Given the description of an element on the screen output the (x, y) to click on. 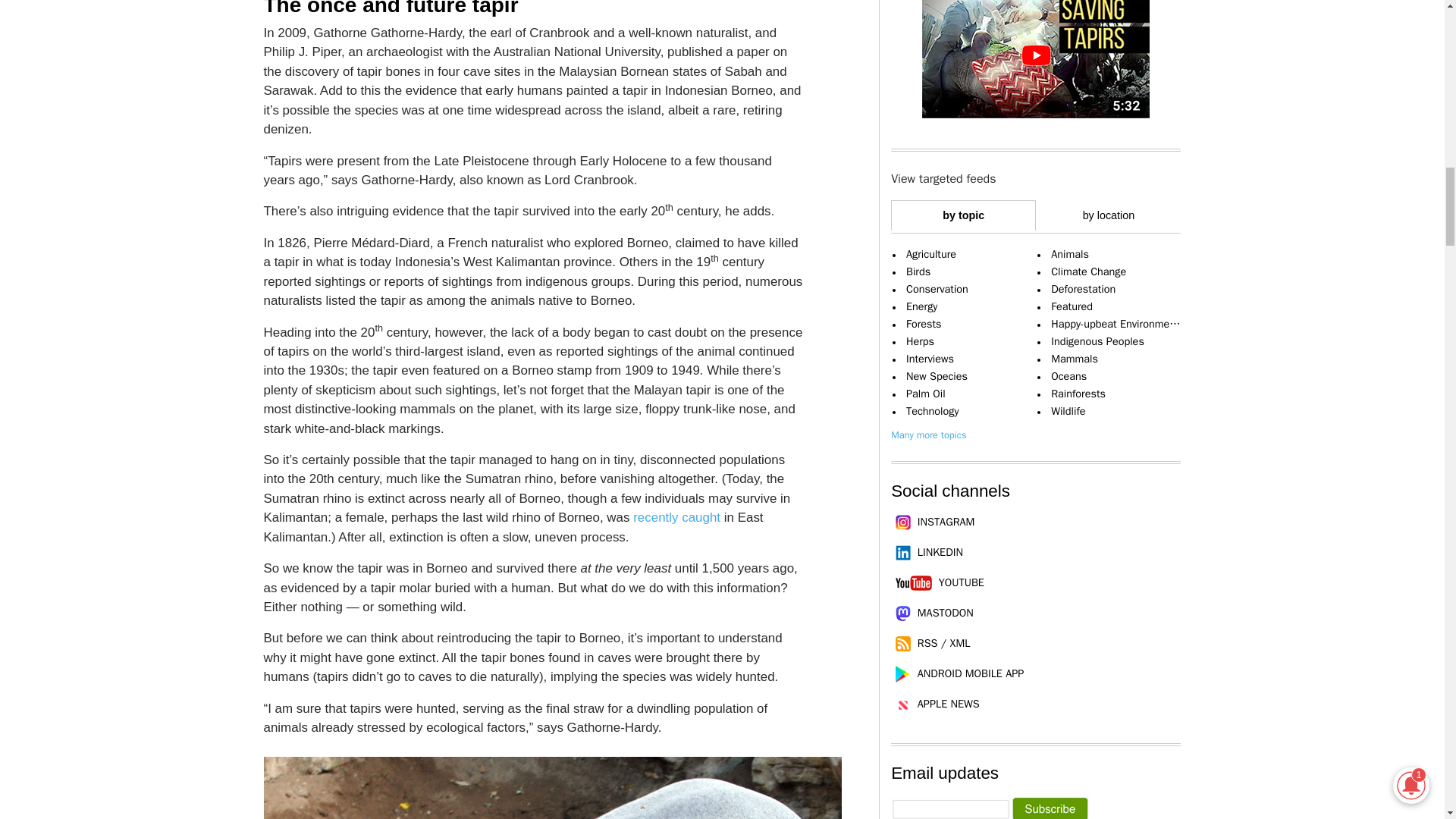
recently caught (676, 517)
